Given the description of an element on the screen output the (x, y) to click on. 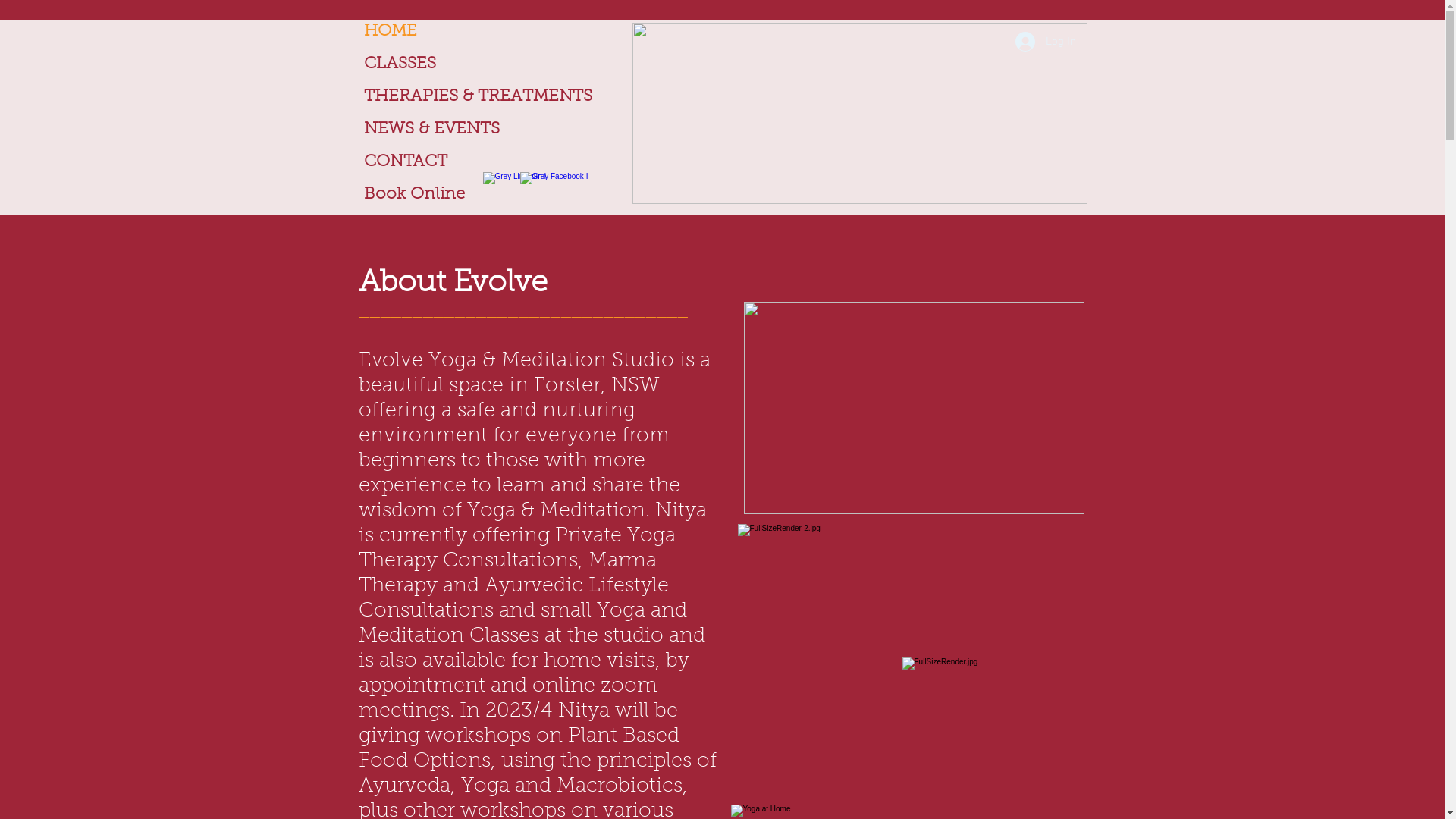
HOME Element type: text (493, 31)
NEWS & EVENTS Element type: text (493, 129)
THERAPIES & TREATMENTS Element type: text (493, 97)
CONTACT Element type: text (493, 162)
CLASSES Element type: text (493, 64)
Log In Element type: text (1044, 41)
Book Online Element type: text (493, 194)
